Given the description of an element on the screen output the (x, y) to click on. 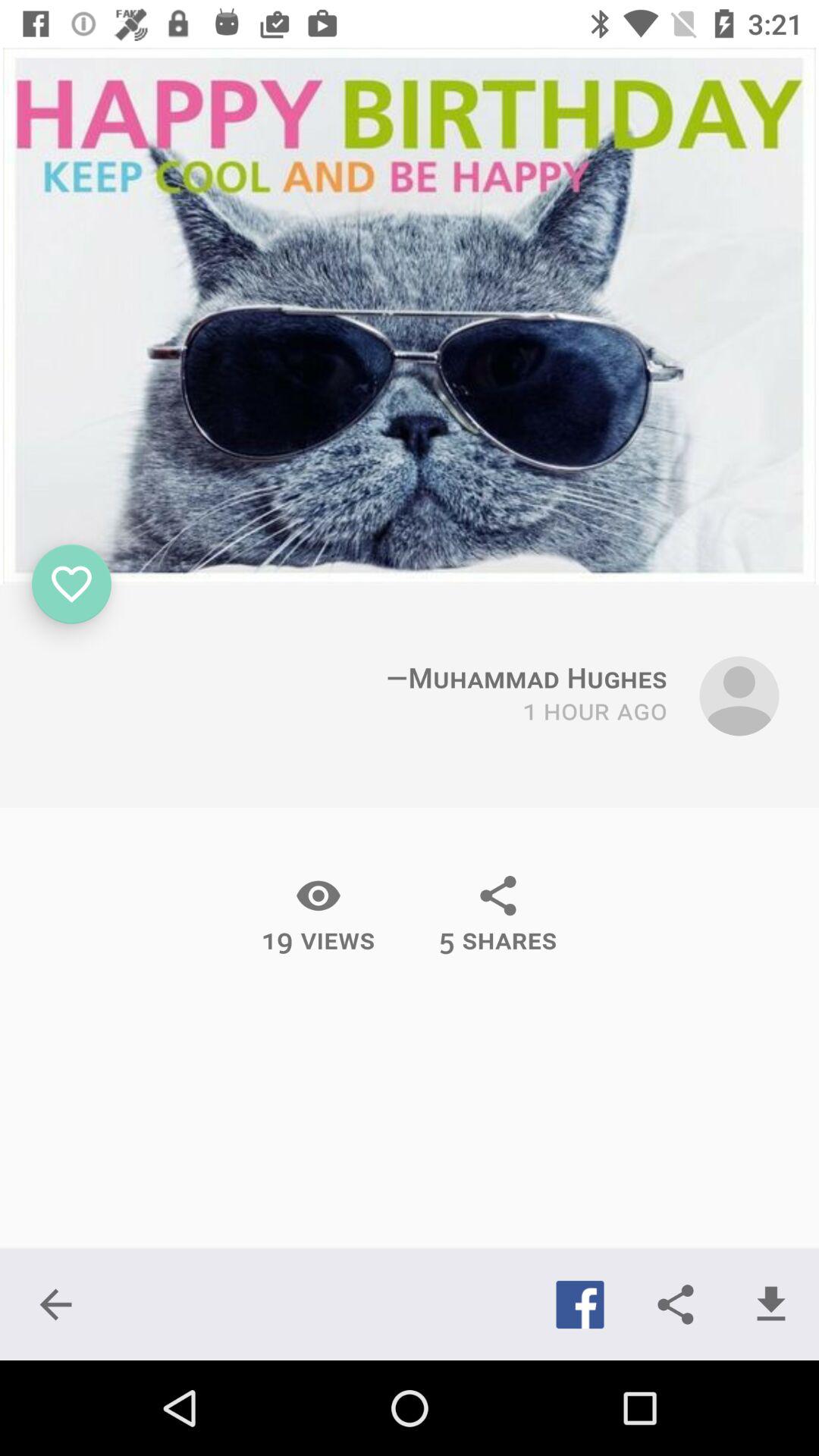
select the text which is immediately above 1 hour ago (526, 671)
select the icon with the text which is right to the text 19 views (497, 914)
select the icon which is after muhammad hughes on a page (739, 695)
click the download icon which is at bottom right of the page (771, 1304)
click on icon which is below the image (71, 584)
